Given the description of an element on the screen output the (x, y) to click on. 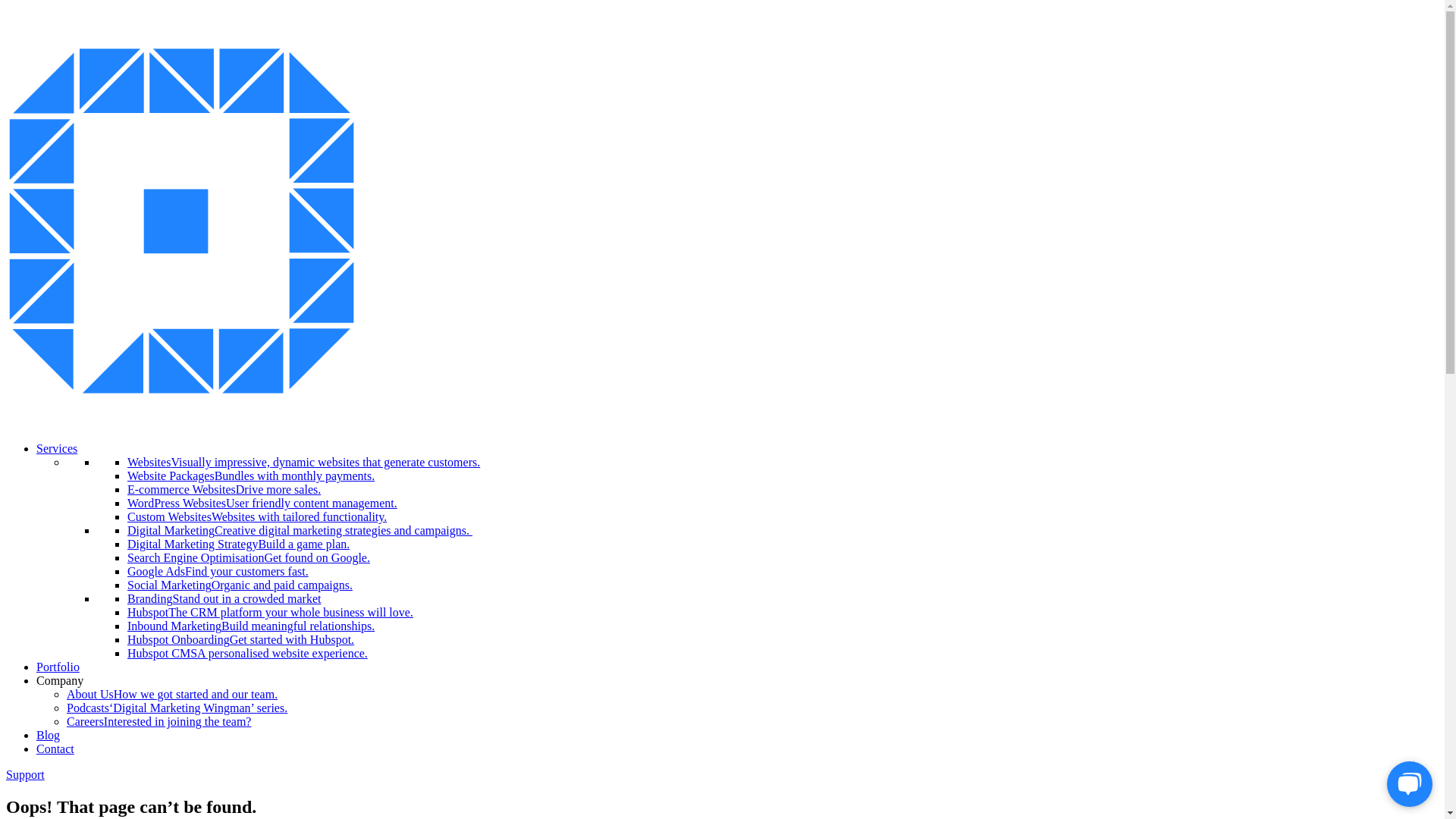
Portfolio Element type: text (57, 666)
Custom WebsitesWebsites with tailored functionality. Element type: text (256, 516)
Services Element type: text (56, 448)
Company Element type: text (59, 680)
Contact Element type: text (55, 748)
BrandingStand out in a crowded market Element type: text (224, 598)
Website PackagesBundles with monthly payments. Element type: text (250, 475)
HubspotThe CRM platform your whole business will love. Element type: text (270, 611)
Google AdsFind your customers fast. Element type: text (217, 570)
Support Element type: text (25, 774)
E-commerce WebsitesDrive more sales. Element type: text (223, 489)
Blog Element type: text (47, 734)
Search Engine OptimisationGet found on Google. Element type: text (248, 557)
Social MarketingOrganic and paid campaigns. Element type: text (239, 584)
Inbound MarketingBuild meaningful relationships. Element type: text (250, 625)
Hubspot CMSA personalised website experience. Element type: text (247, 652)
Hubspot OnboardingGet started with Hubspot. Element type: text (240, 639)
WordPress WebsitesUser friendly content management. Element type: text (262, 502)
Digital Marketing StrategyBuild a game plan. Element type: text (238, 543)
CareersInterested in joining the team? Element type: text (158, 721)
About UsHow we got started and our team. Element type: text (171, 693)
Skip to content Element type: text (5, 5)
